Given the description of an element on the screen output the (x, y) to click on. 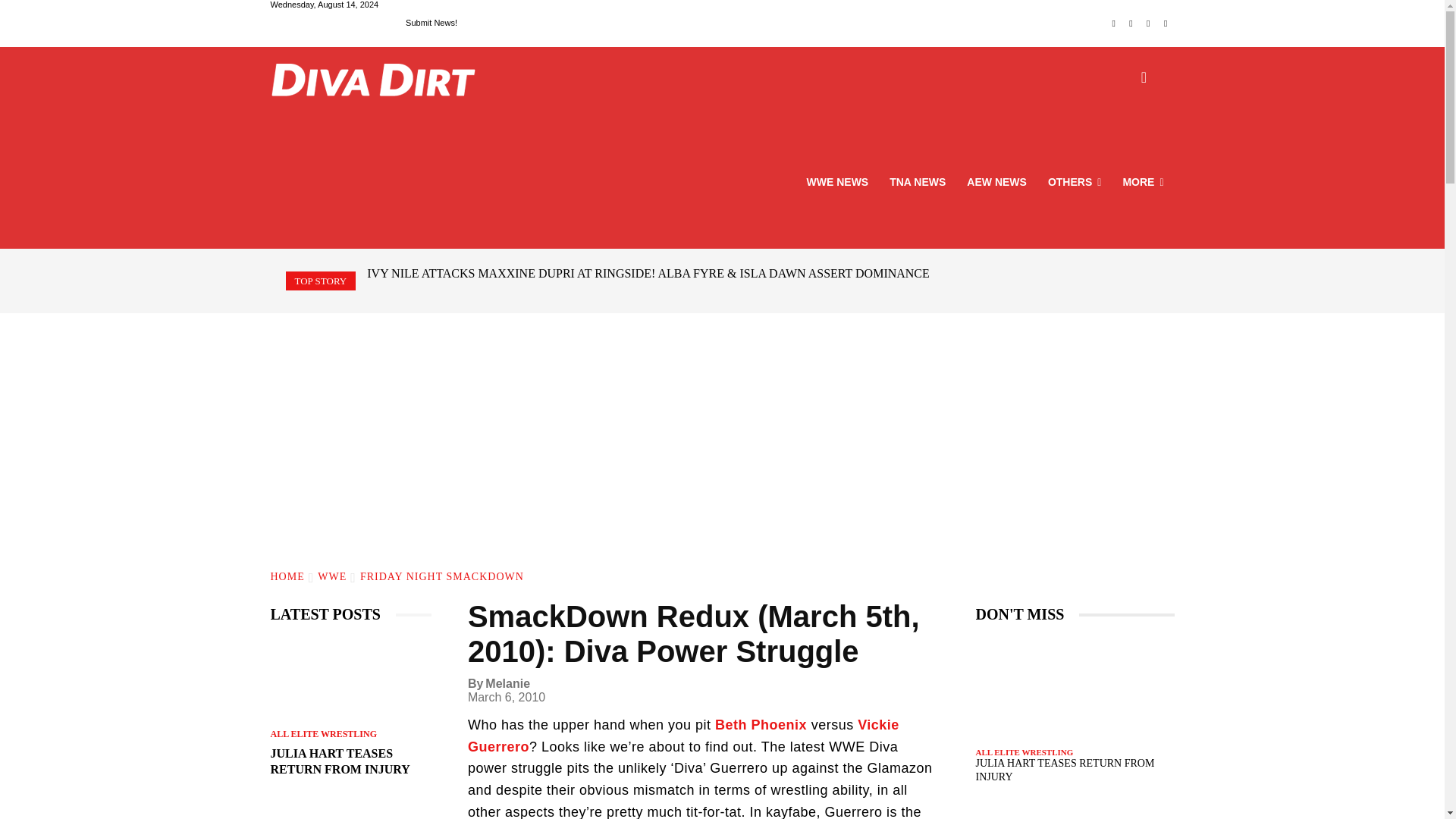
View all posts in Friday Night SmackDown (441, 576)
Facebook (1113, 23)
View all posts in WWE (331, 576)
Julia Hart Teases Return From Injury (349, 679)
Instagram (1131, 23)
Youtube (1165, 23)
Twitter (1148, 23)
